Given the description of an element on the screen output the (x, y) to click on. 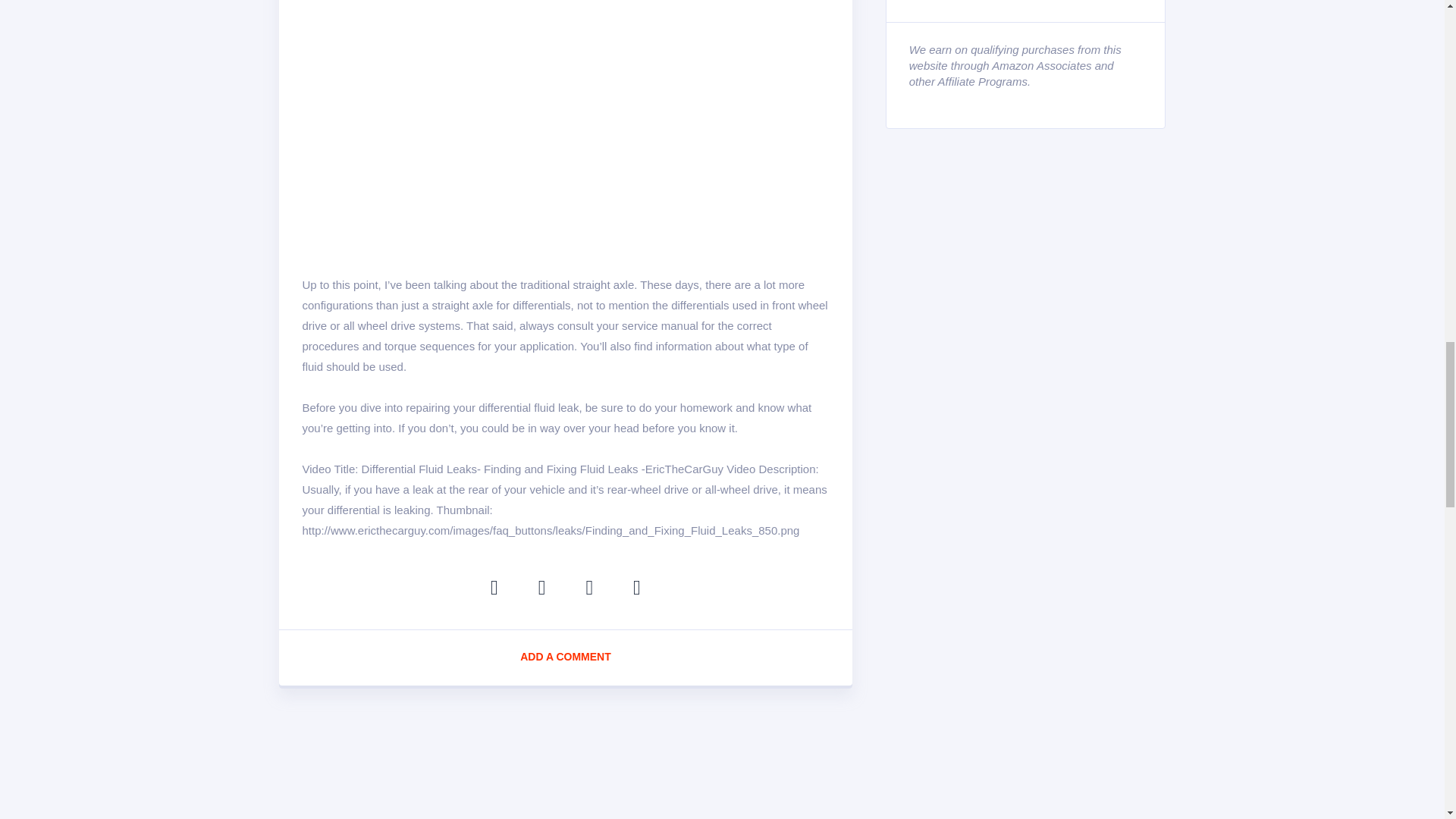
ADD A COMMENT (565, 657)
